Given the description of an element on the screen output the (x, y) to click on. 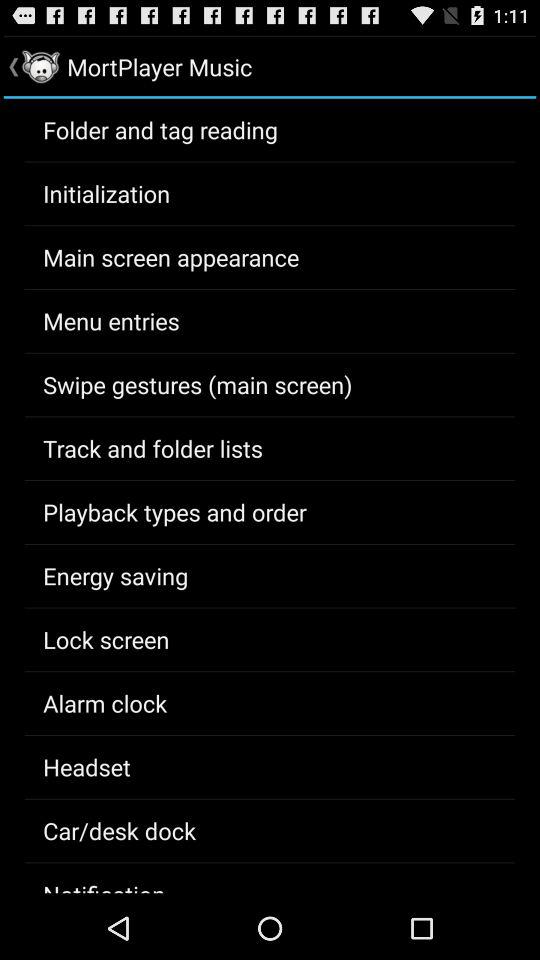
tap the icon below the main screen appearance (111, 320)
